Given the description of an element on the screen output the (x, y) to click on. 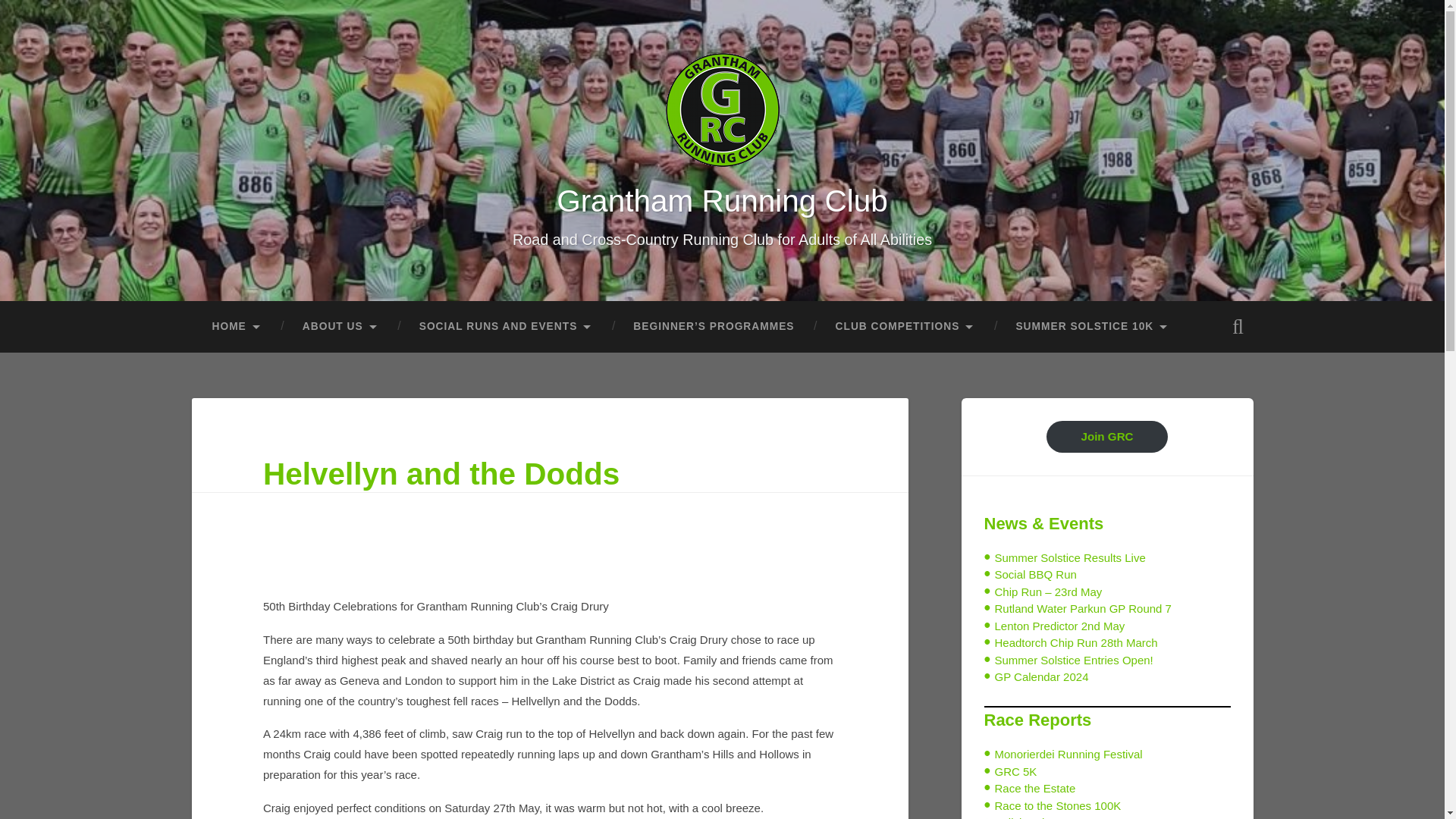
CLUB COMPETITIONS (905, 326)
ABOUT US (340, 326)
SOCIAL RUNS AND EVENTS (505, 326)
Helvellyn and the Dodds (441, 473)
HOME (235, 326)
Grantham Running Club (722, 200)
SUMMER SOLSTICE 10K (1091, 326)
Join GRC (1106, 436)
